Given the description of an element on the screen output the (x, y) to click on. 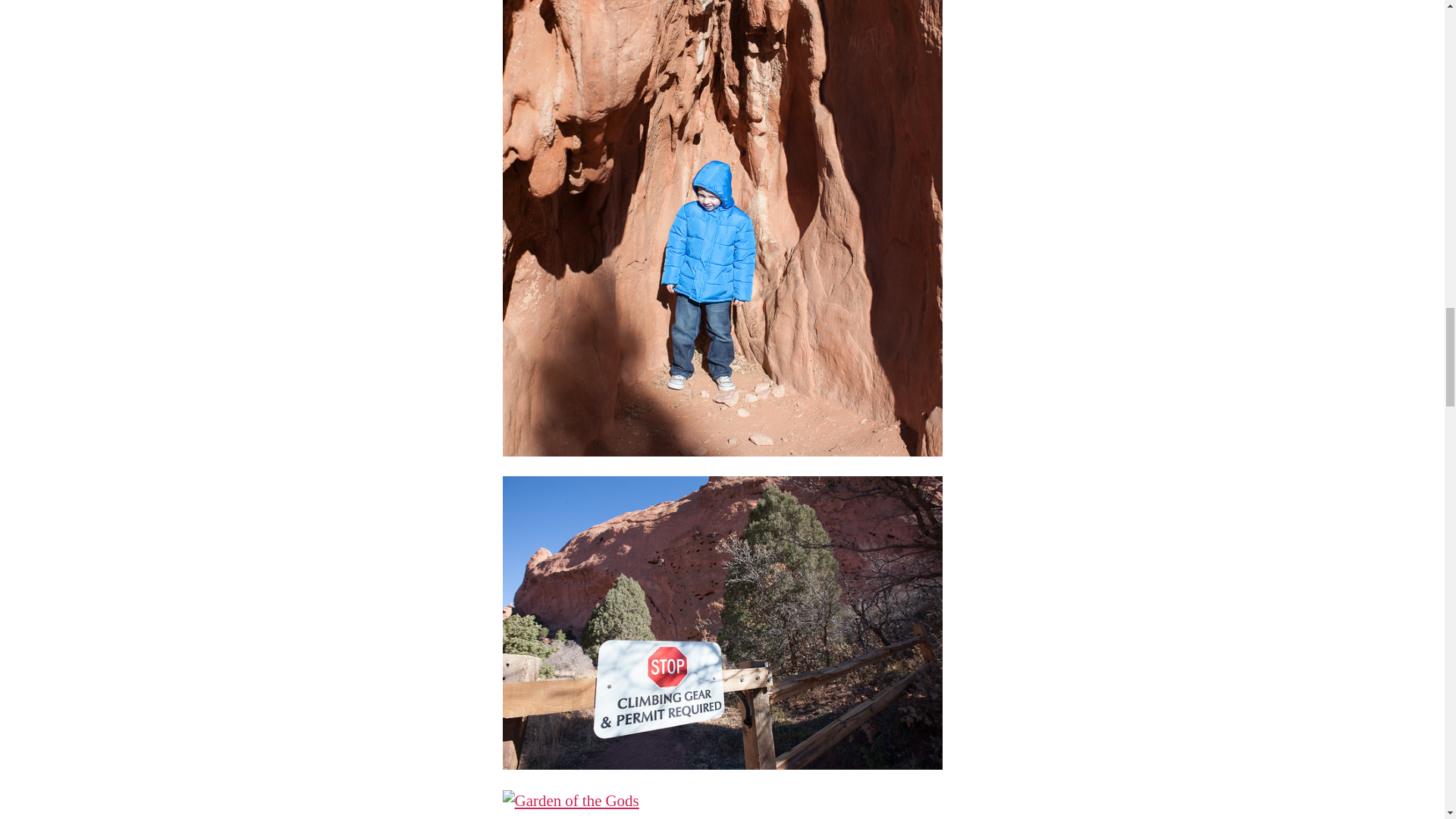
Garden of the Gods by Shay Thomason, on Flickr (722, 622)
Garden of the Gods by Shay Thomason, on Flickr (722, 804)
